Given the description of an element on the screen output the (x, y) to click on. 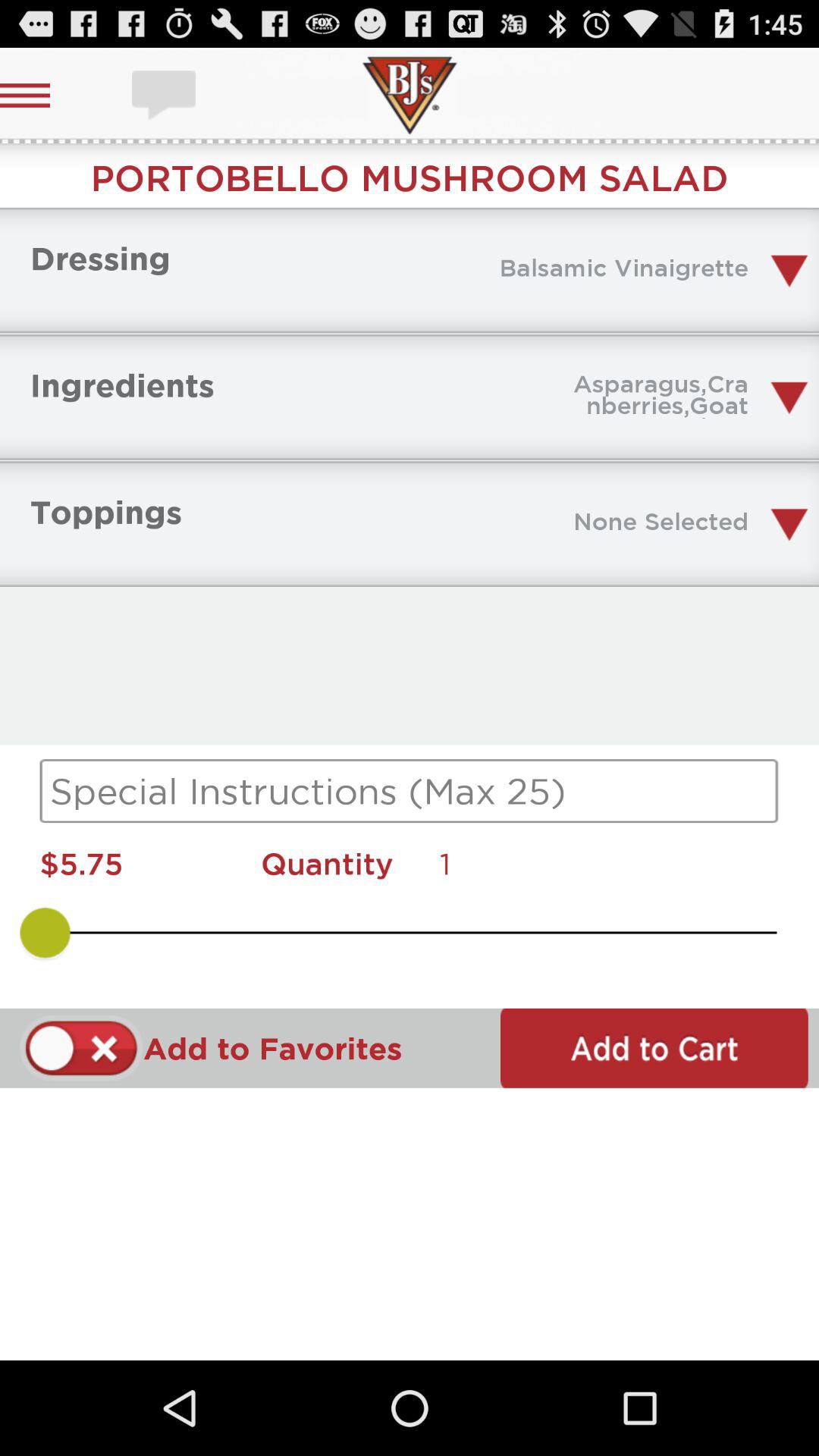
do not add to favorites (81, 1048)
